Given the description of an element on the screen output the (x, y) to click on. 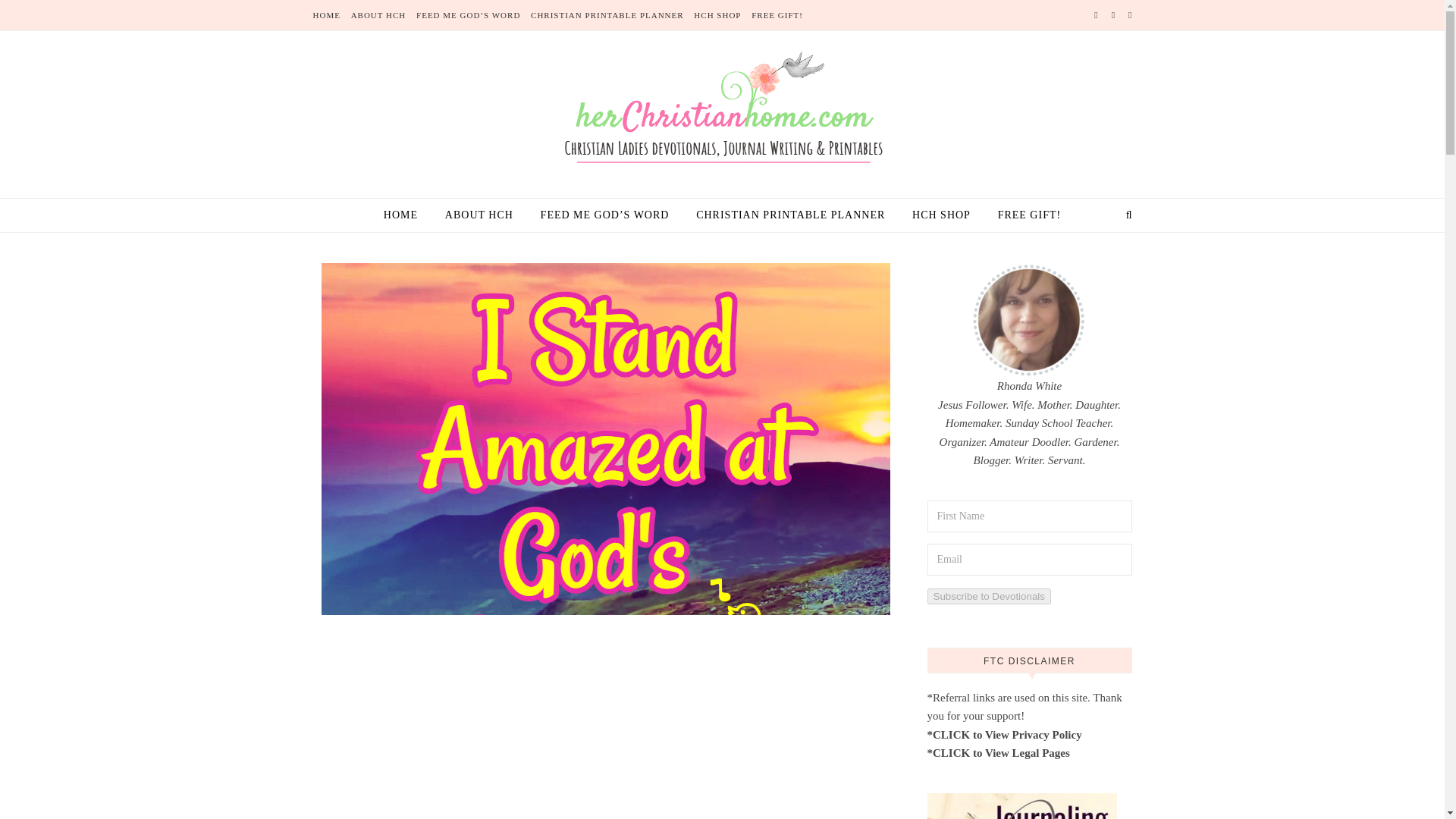
ABOUT HCH (478, 215)
CHRISTIAN PRINTABLE PLANNER (607, 15)
FREE GIFT! (775, 15)
herChristianhome (721, 111)
HOME (328, 15)
FREE GIFT! (1023, 215)
HOME (406, 215)
CHRISTIAN PRINTABLE PLANNER (790, 215)
ABOUT HCH (378, 15)
HCH SHOP (717, 15)
